Given the description of an element on the screen output the (x, y) to click on. 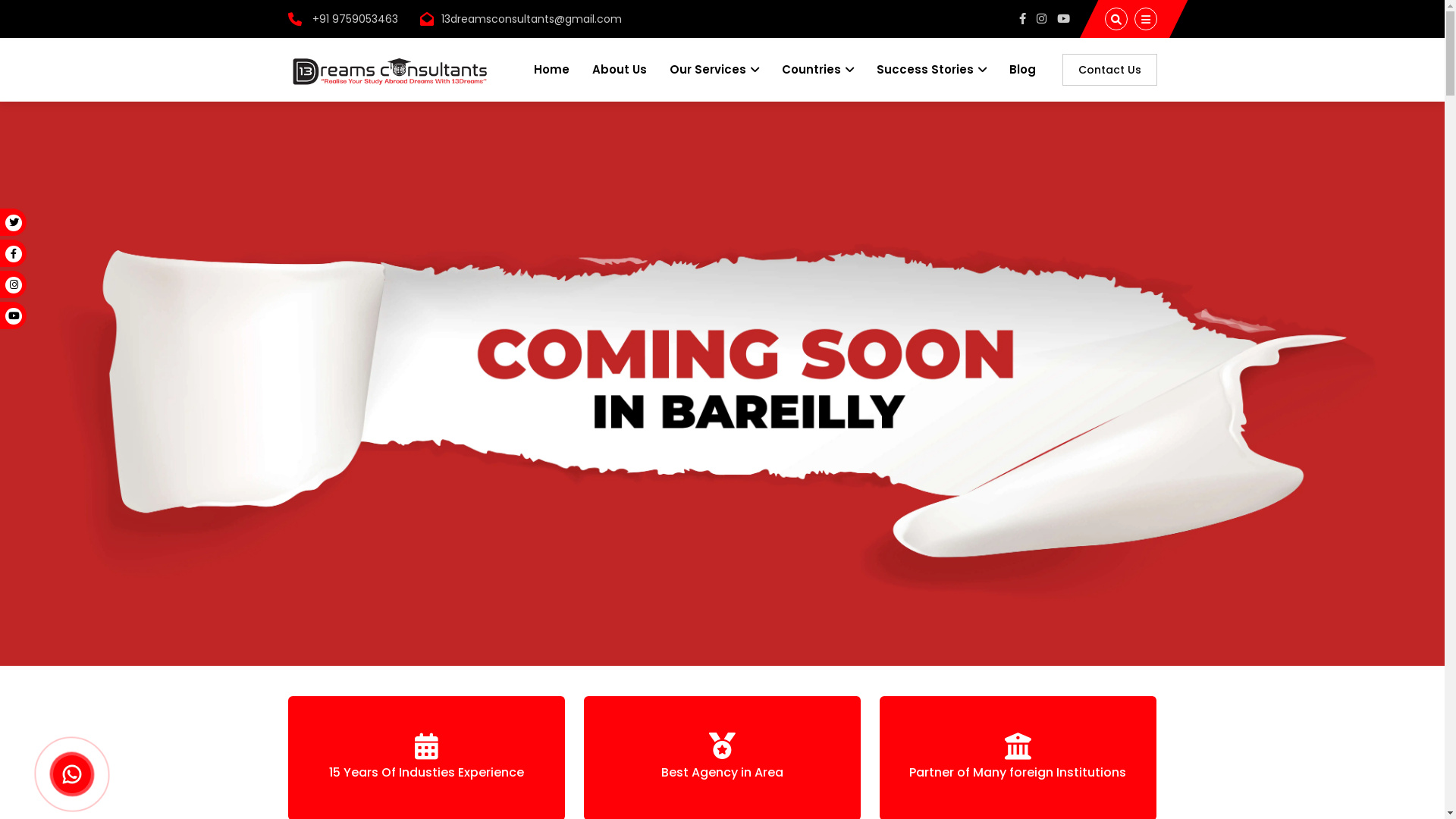
Home Element type: text (551, 69)
Our Services Element type: text (713, 69)
13dreamsconsultants@gmail.com Element type: text (531, 18)
About Us Element type: text (618, 69)
Countries Element type: text (817, 69)
Success Stories Element type: text (931, 69)
Contact Us Element type: text (1108, 69)
Blog Element type: text (1021, 69)
